Given the description of an element on the screen output the (x, y) to click on. 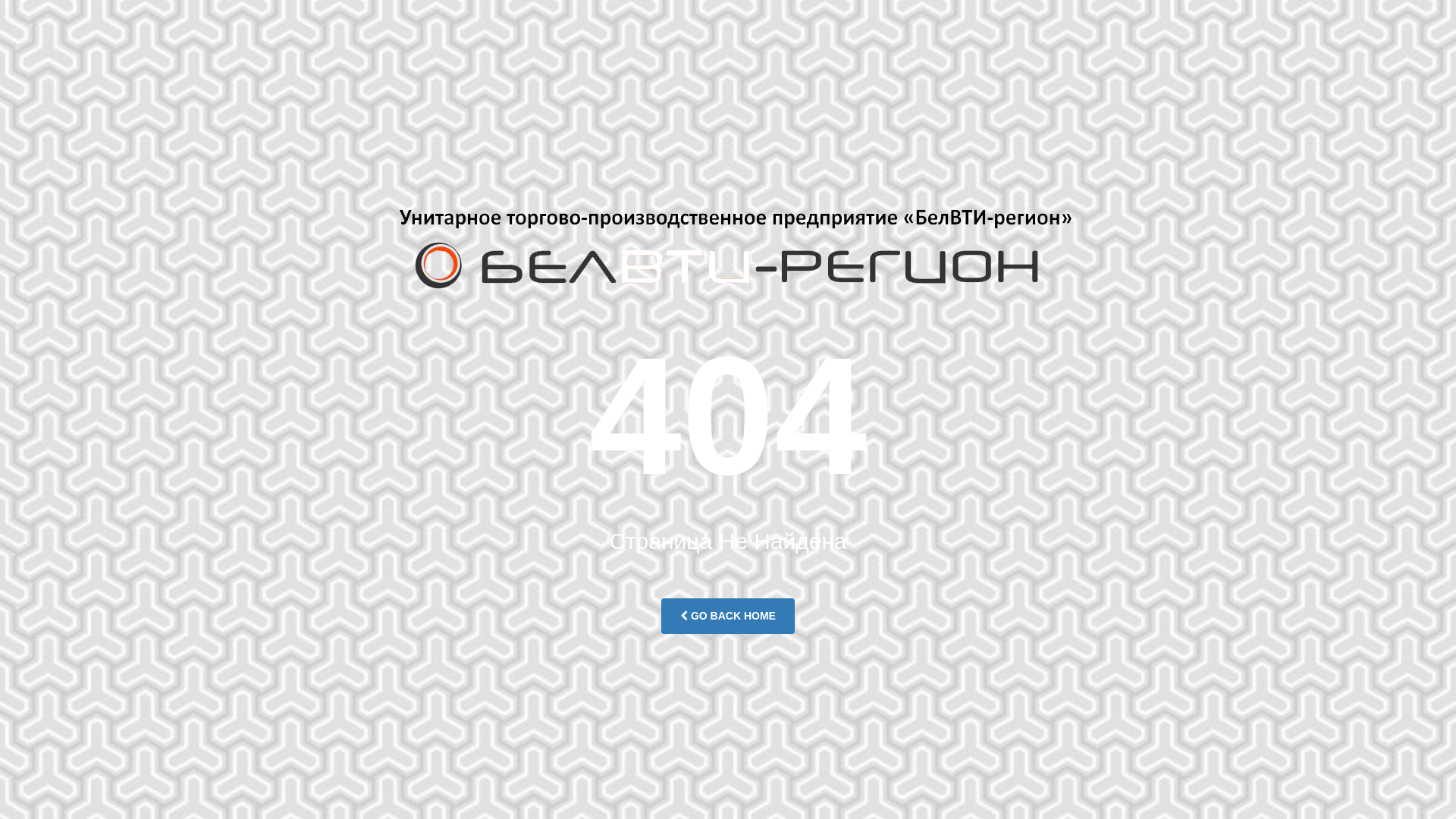
GO BACK HOME Element type: text (727, 615)
